Given the description of an element on the screen output the (x, y) to click on. 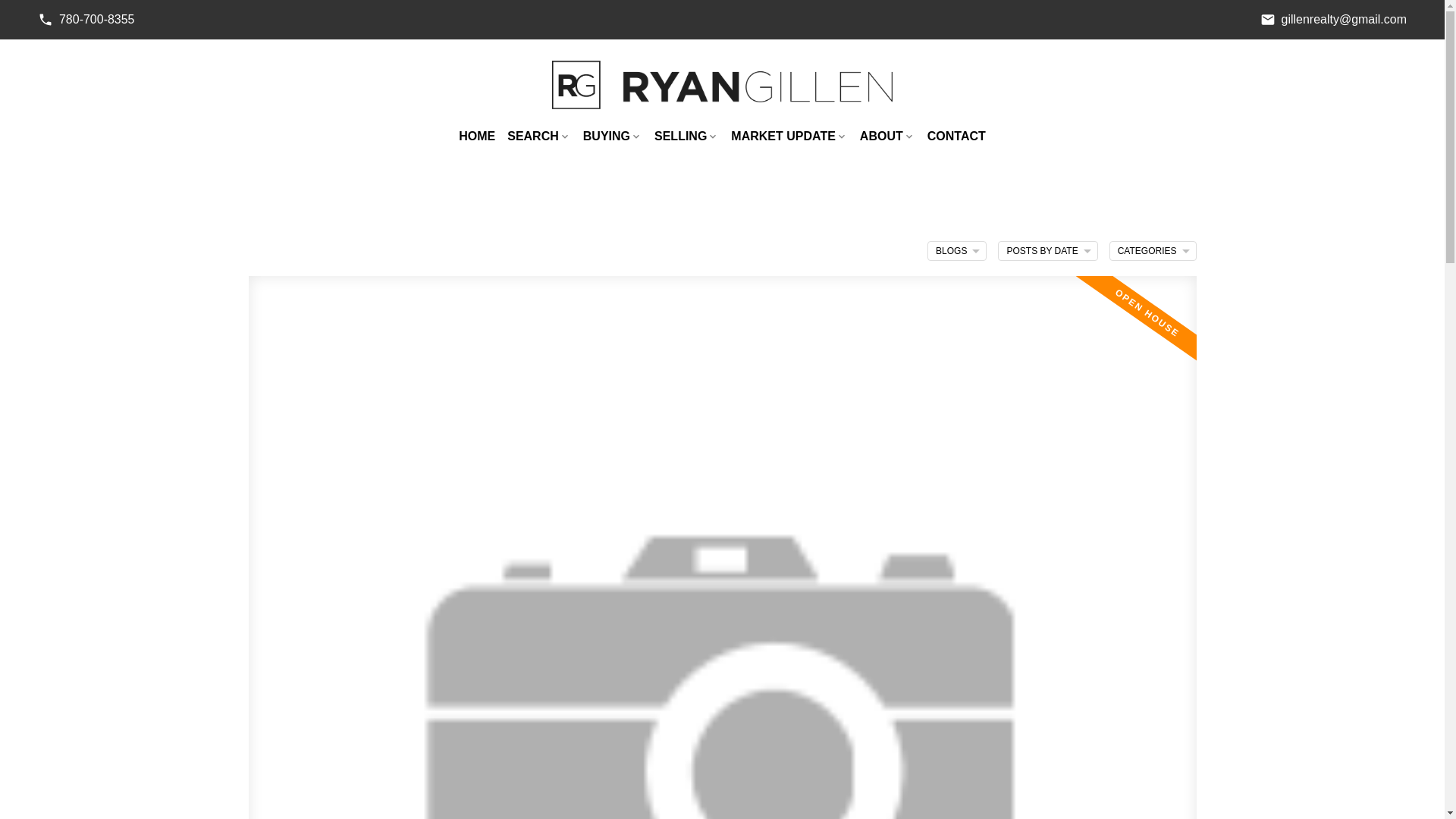
HOME (476, 136)
MARKET UPDATE (788, 136)
BUYING (612, 136)
SELLING (686, 136)
SEARCH (538, 136)
780-700-8355 (86, 19)
ABOUT (887, 136)
CONTACT (956, 136)
